Given the description of an element on the screen output the (x, y) to click on. 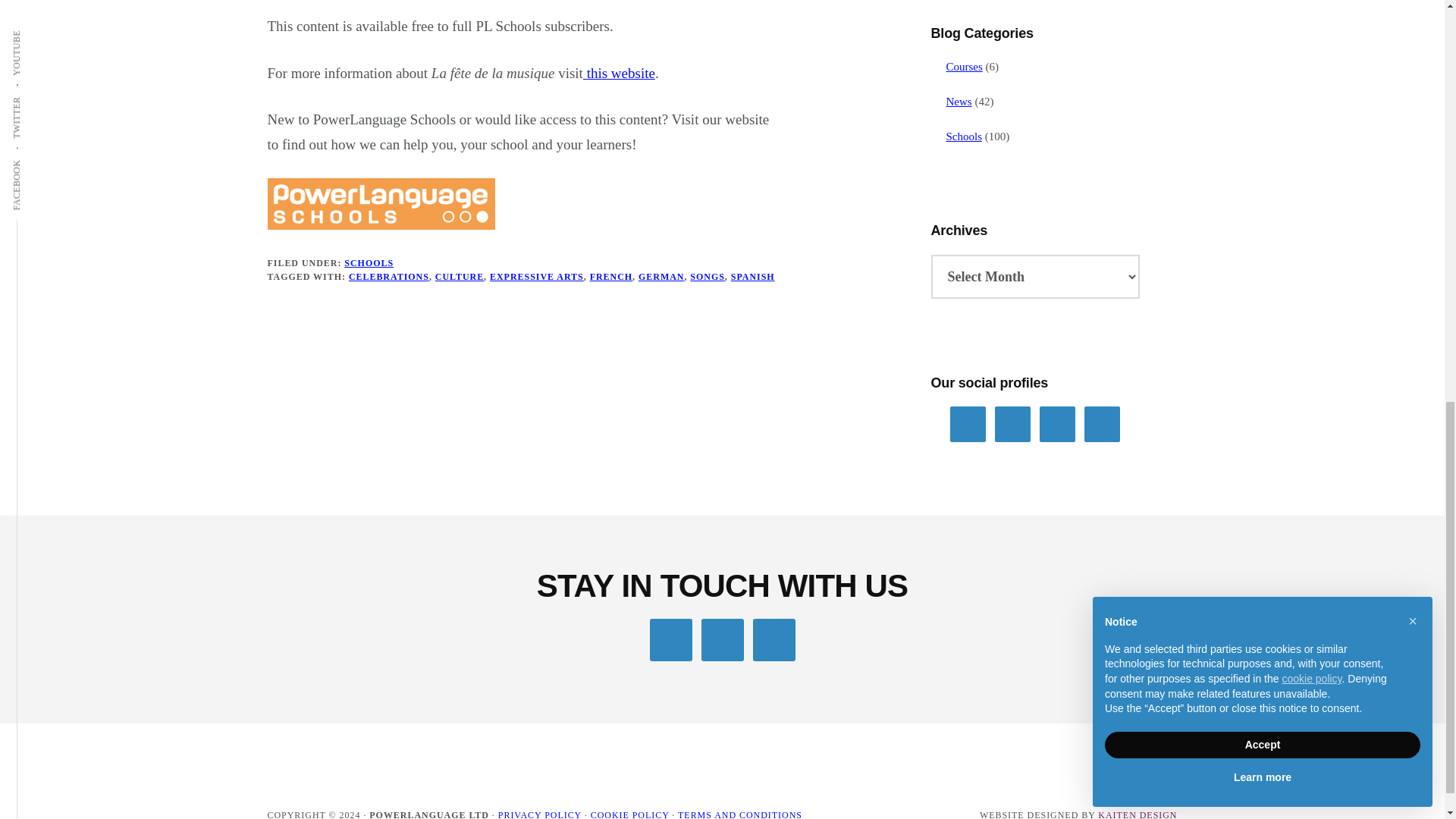
this website (619, 73)
EXPRESSIVE ARTS (536, 276)
Courses (964, 66)
FRENCH (610, 276)
Privacy Policy (538, 814)
SPANISH (752, 276)
SCHOOLS (368, 262)
CULTURE (459, 276)
GERMAN (661, 276)
CELEBRATIONS (389, 276)
News (959, 101)
Schools (964, 136)
Terms and Conditions (740, 814)
SONGS (706, 276)
Cookie Policy (630, 814)
